Given the description of an element on the screen output the (x, y) to click on. 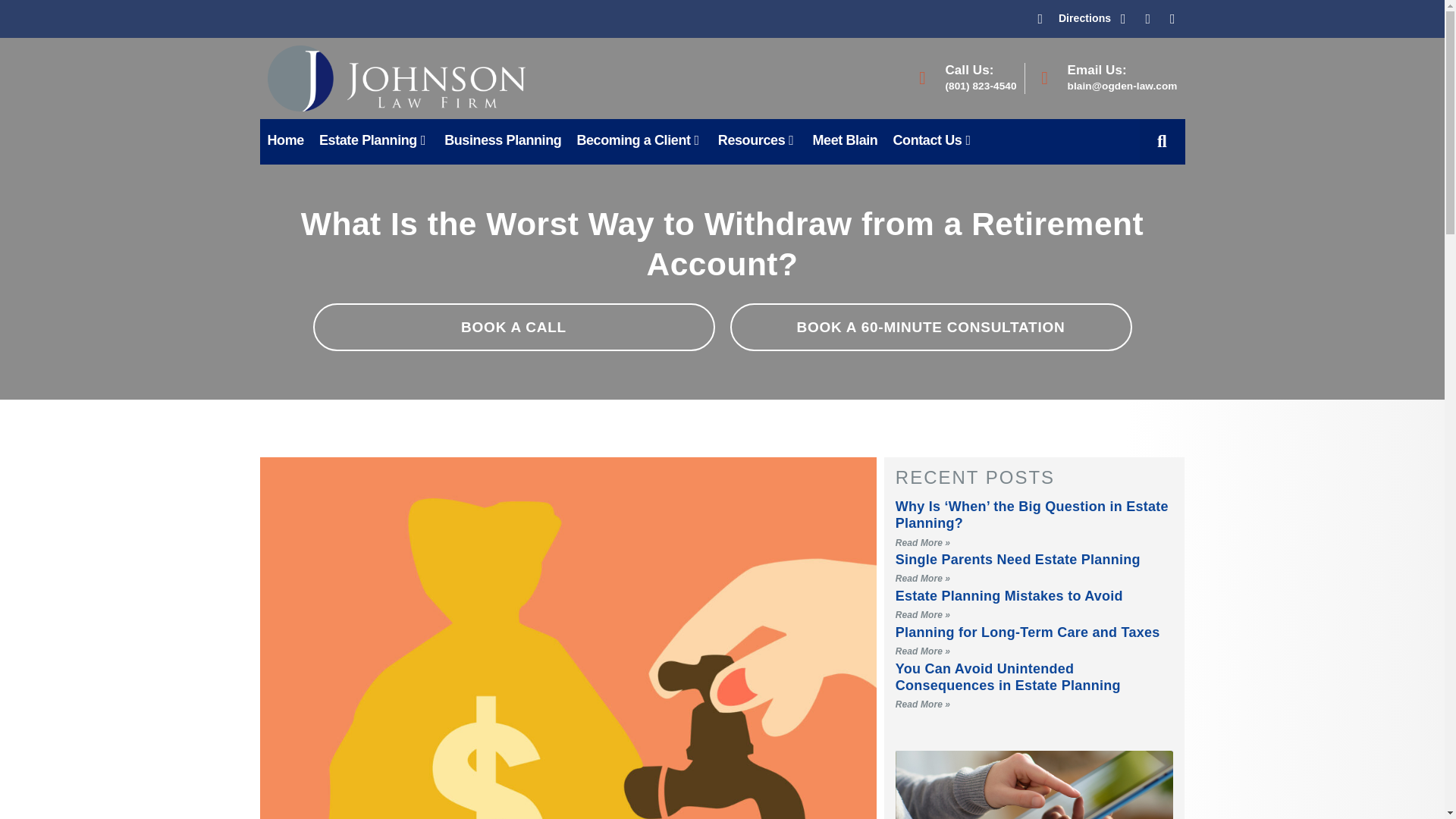
Business Planning (502, 139)
Becoming a Client (639, 139)
Resources (757, 139)
Directions (1073, 18)
Home (285, 139)
Meet Blain (845, 139)
Contact Us (933, 139)
Estate Planning (373, 139)
